Given the description of an element on the screen output the (x, y) to click on. 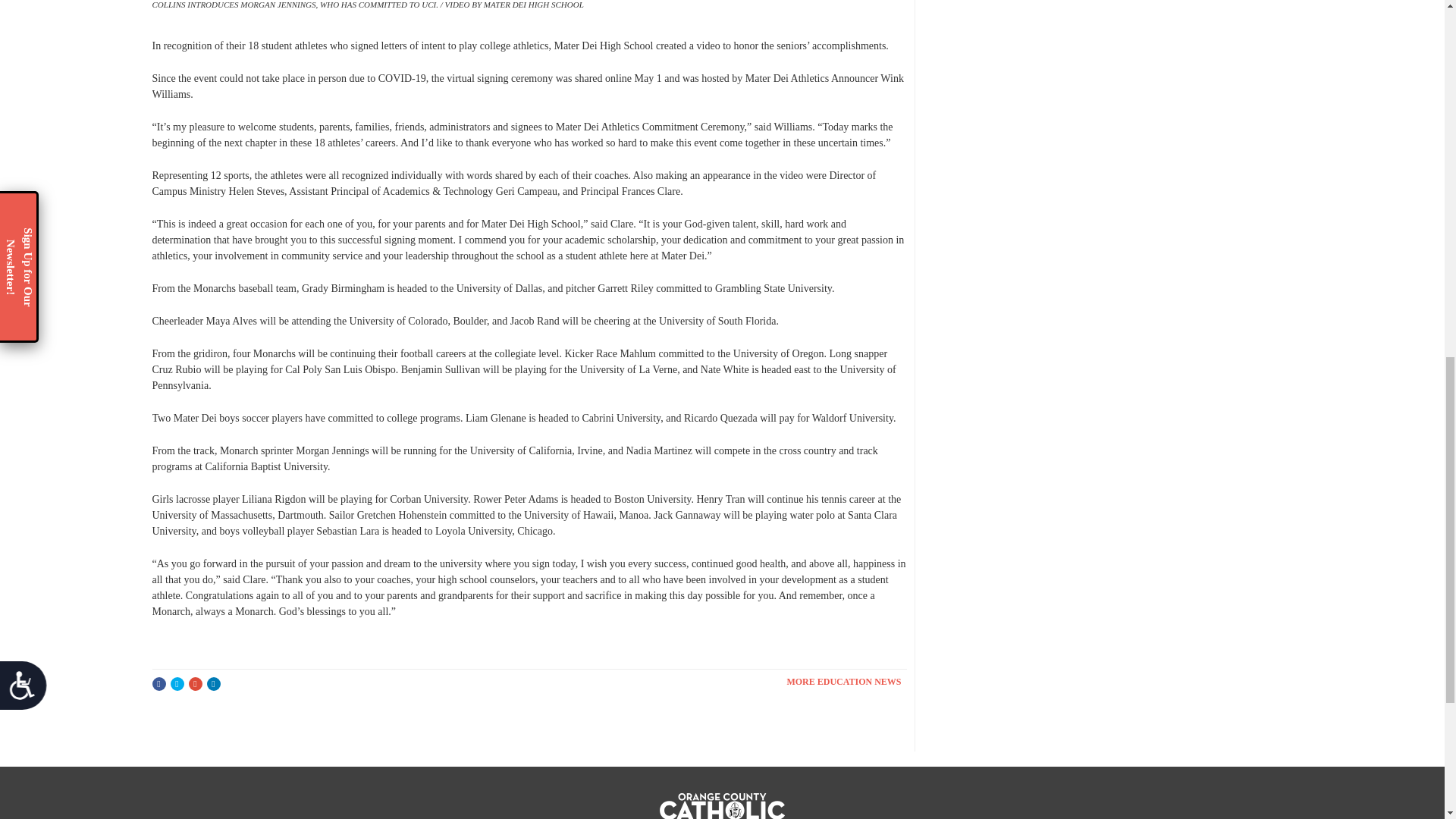
MORE EDUCATION NEWS (845, 681)
Education (845, 681)
